Given the description of an element on the screen output the (x, y) to click on. 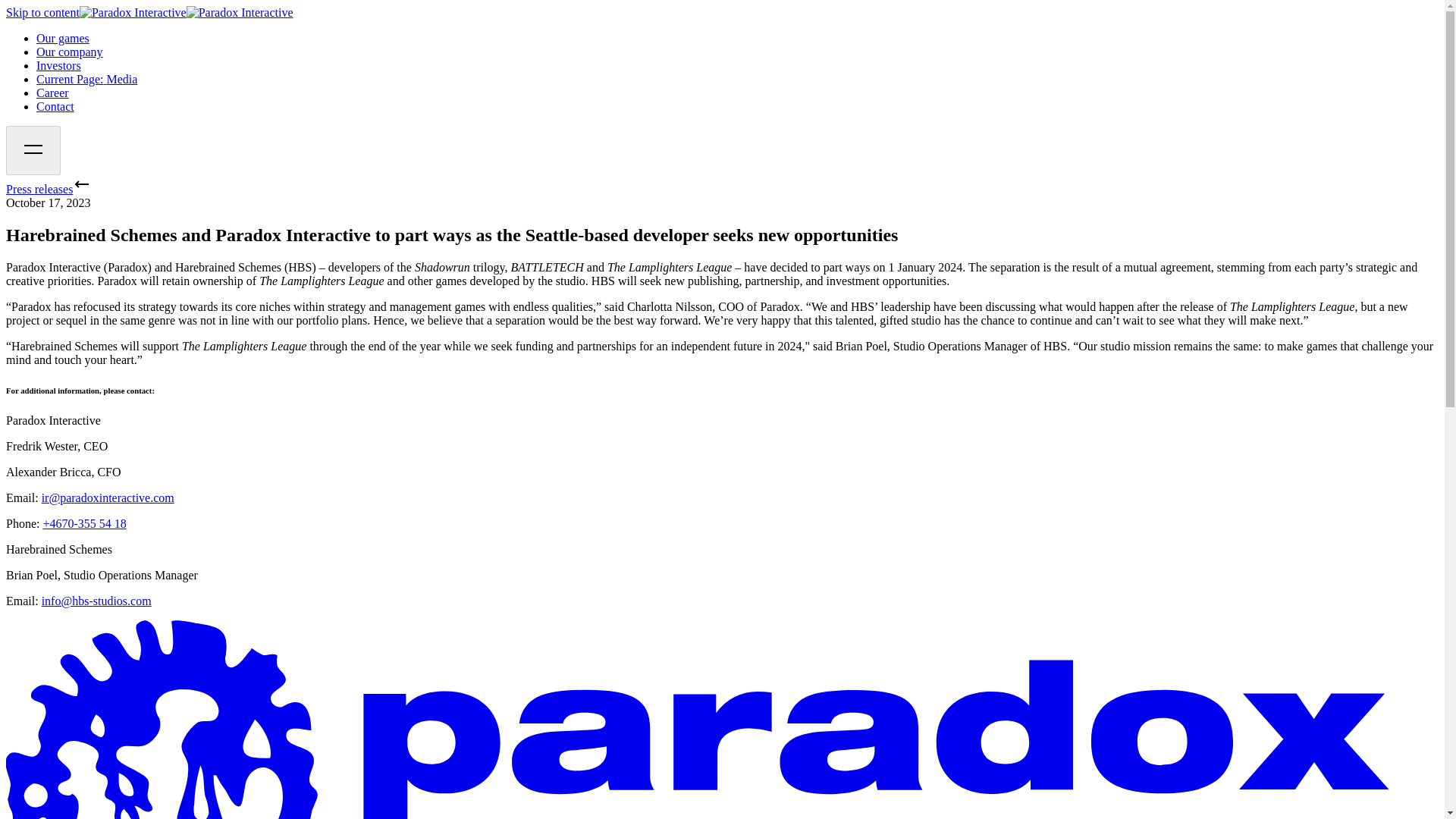
Our company (69, 51)
Investors (58, 65)
Press releases (47, 188)
Current Page: Media (86, 78)
Career (52, 92)
Our games (62, 38)
Contact (55, 106)
Skip to content (42, 11)
